Given the description of an element on the screen output the (x, y) to click on. 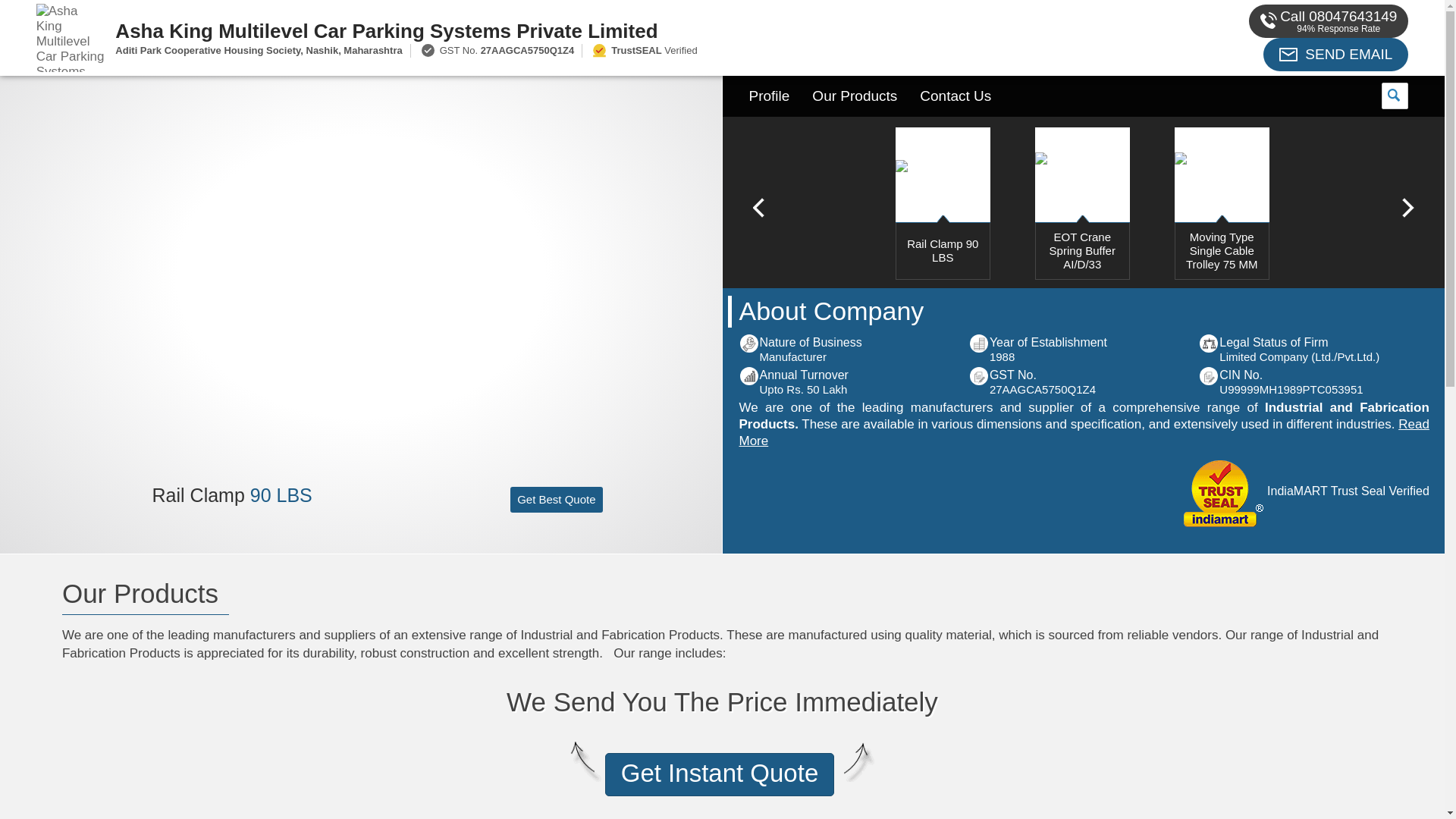
Contact Us (955, 96)
Our Products (854, 96)
Rail Clamp 90 LBS (942, 273)
Rail Clamp 90 LBS (232, 495)
Profile (768, 96)
Asha King Multilevel Car Parking Systems Private Limited (552, 31)
